Given the description of an element on the screen output the (x, y) to click on. 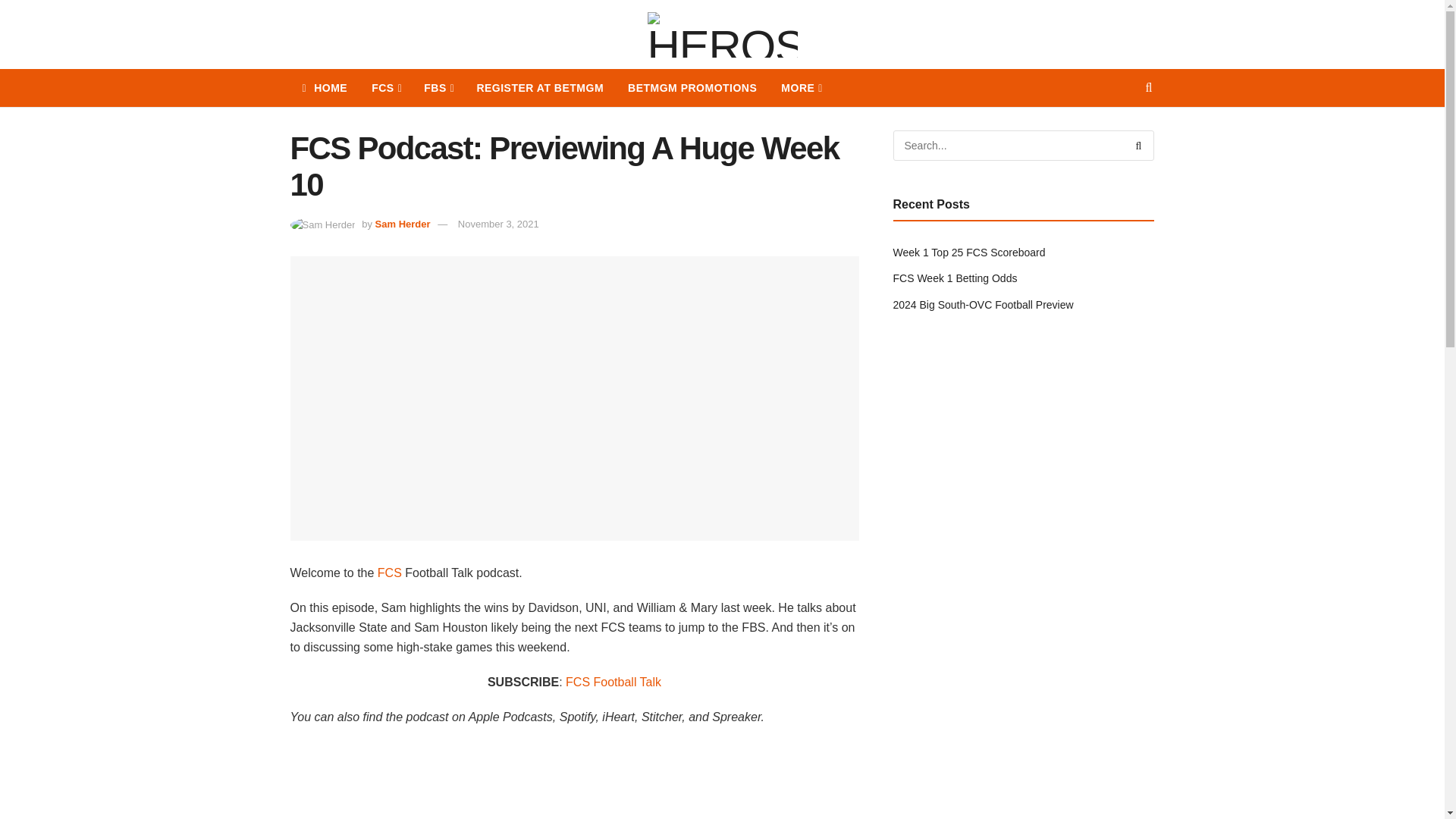
FCS (385, 87)
MORE (800, 87)
HOME (324, 87)
REGISTER AT BETMGM (539, 87)
BETMGM PROMOTIONS (691, 87)
FBS (438, 87)
